Given the description of an element on the screen output the (x, y) to click on. 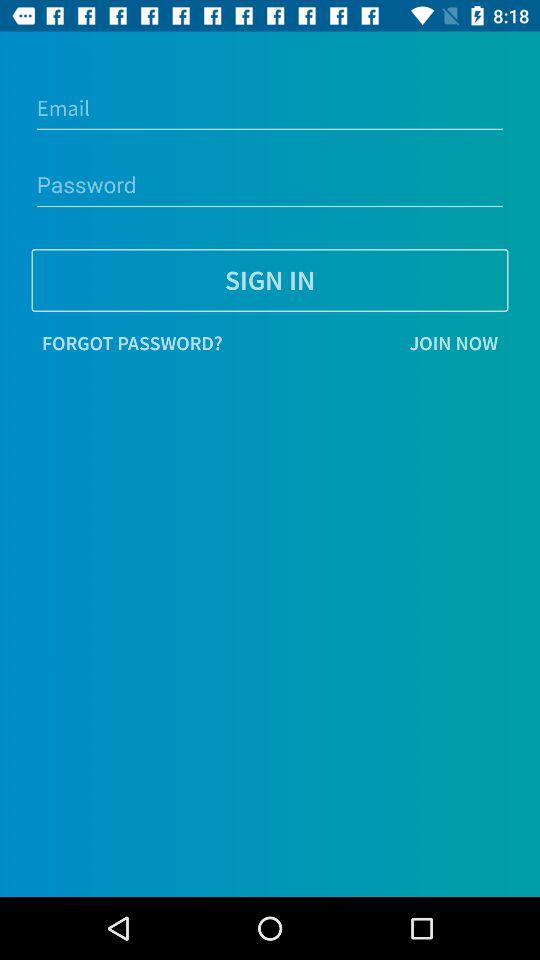
turn off icon below sign in icon (132, 343)
